Given the description of an element on the screen output the (x, y) to click on. 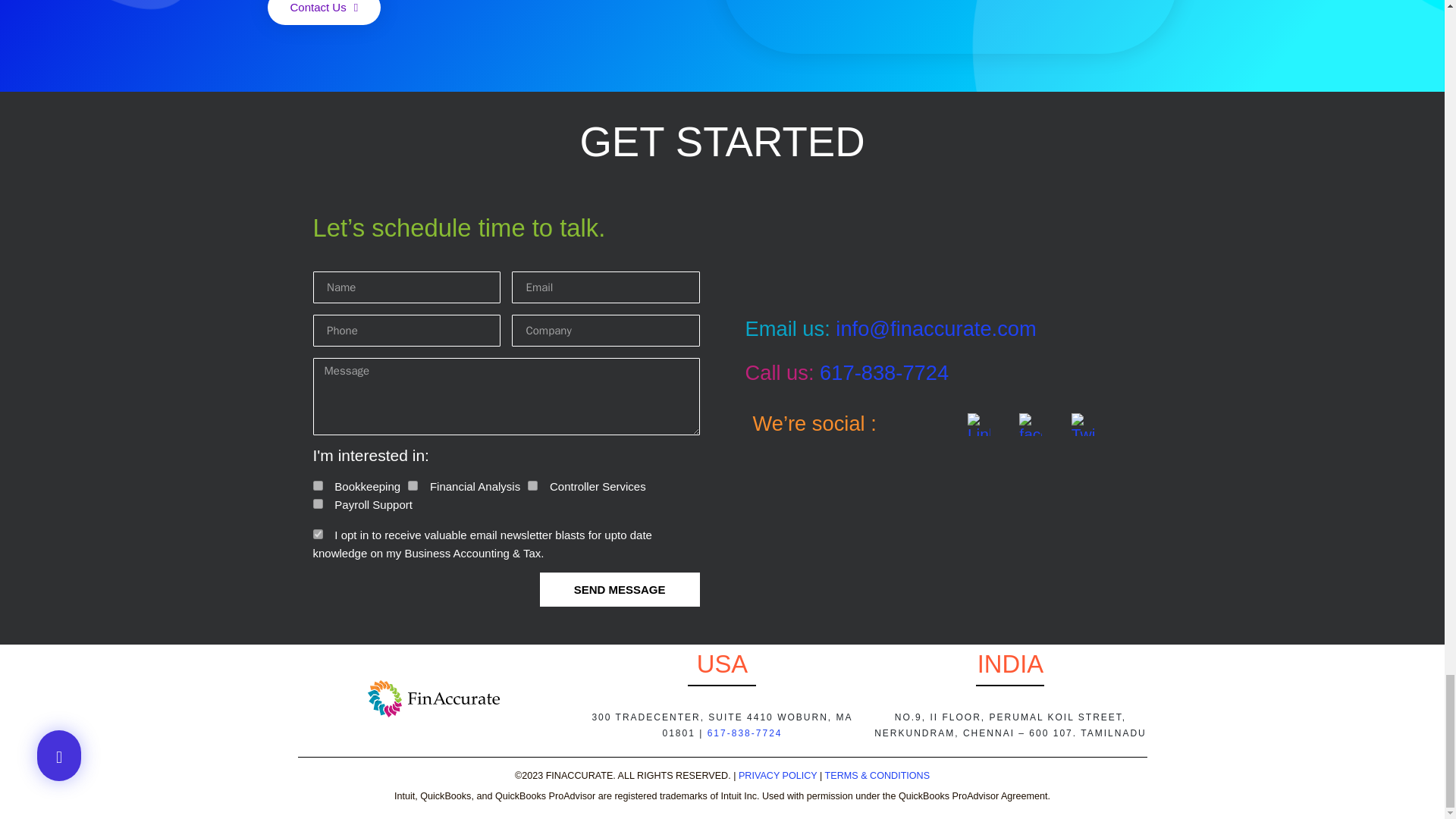
Payroll Support (317, 503)
Twitter (1082, 424)
Financial Analysis (412, 485)
facebook icon (1030, 424)
Bookkeeping (317, 485)
LinkedIn-Icon (979, 424)
Controller Services (532, 485)
on (317, 533)
